Given the description of an element on the screen output the (x, y) to click on. 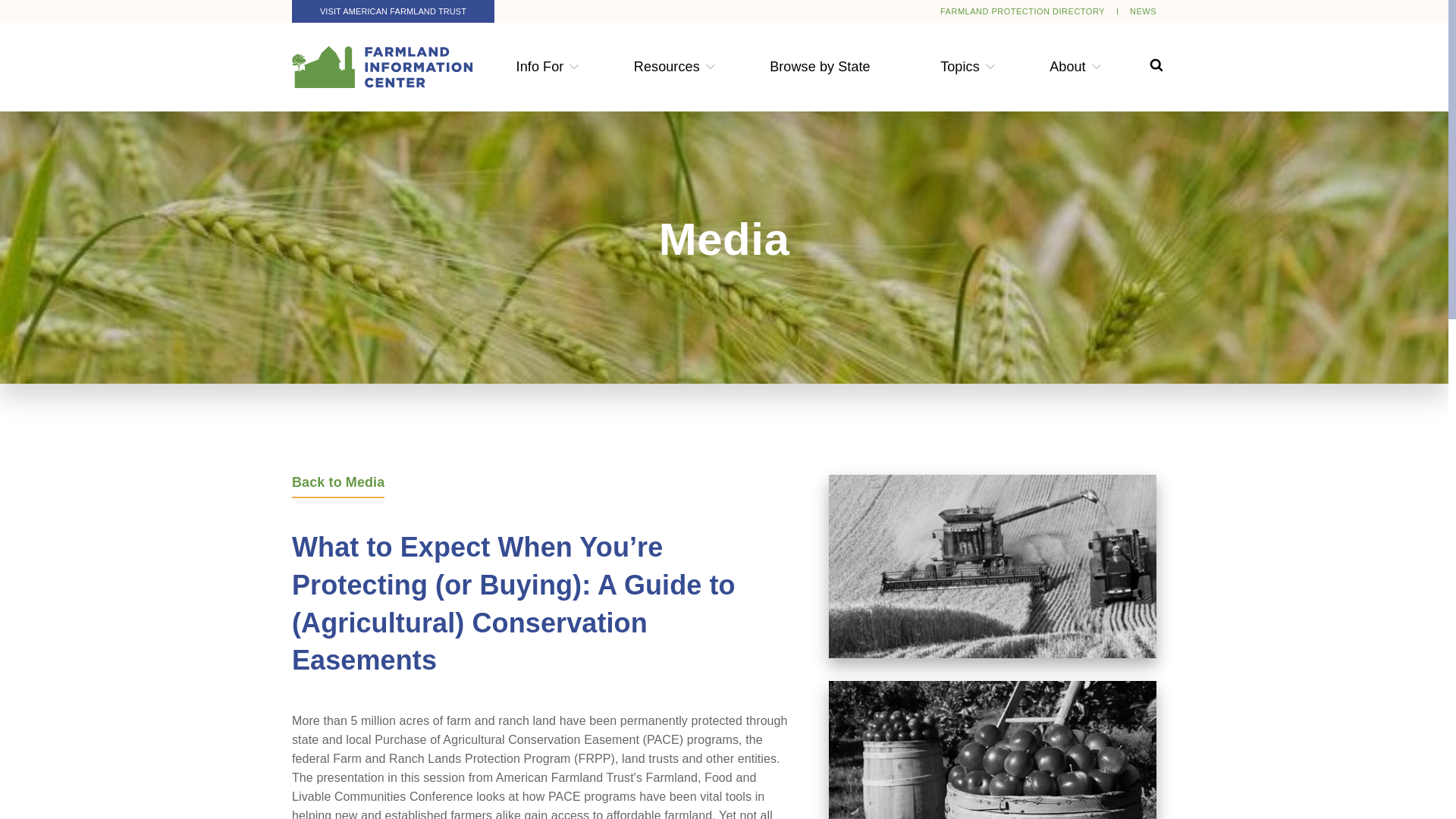
Resources (666, 66)
VISIT AMERICAN FARMLAND TRUST (393, 11)
NEWS (1142, 10)
FARMLAND PROTECTION DIRECTORY (1022, 10)
